Given the description of an element on the screen output the (x, y) to click on. 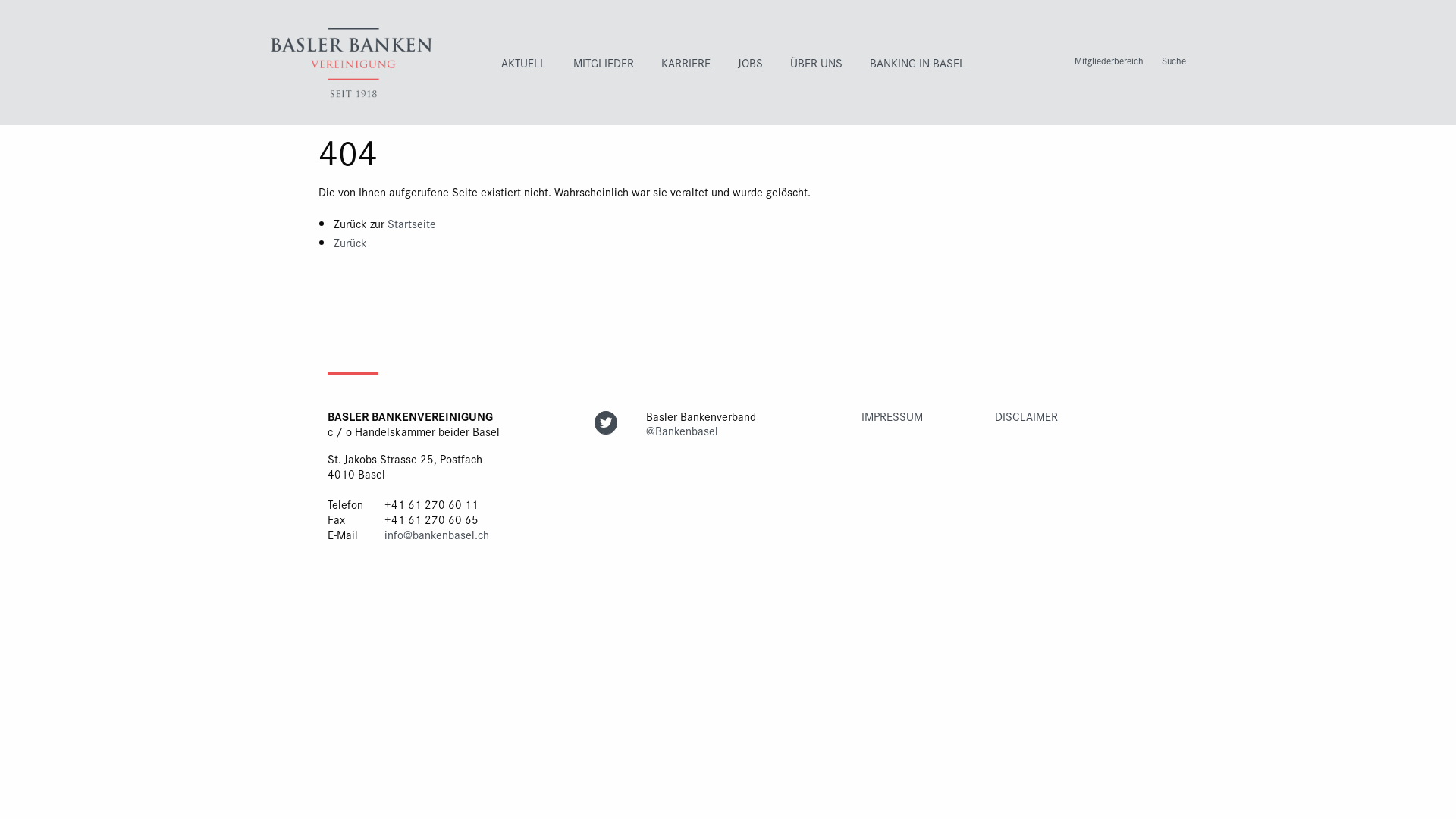
info@bankenbasel.ch Element type: text (435, 533)
Mitgliederbereich Element type: text (1107, 60)
Suchen Element type: text (1410, 140)
KARRIERE Element type: text (685, 61)
Startseite Element type: text (411, 223)
Suche Element type: text (1173, 60)
BANKING-IN-BASEL Element type: text (917, 61)
JOBS Element type: text (750, 61)
MITGLIEDER Element type: text (603, 61)
@Bankenbasel Element type: text (682, 430)
AKTUELL Element type: text (523, 61)
DISCLAIMER Element type: text (1025, 415)
IMPRESSUM Element type: text (891, 415)
